Given the description of an element on the screen output the (x, y) to click on. 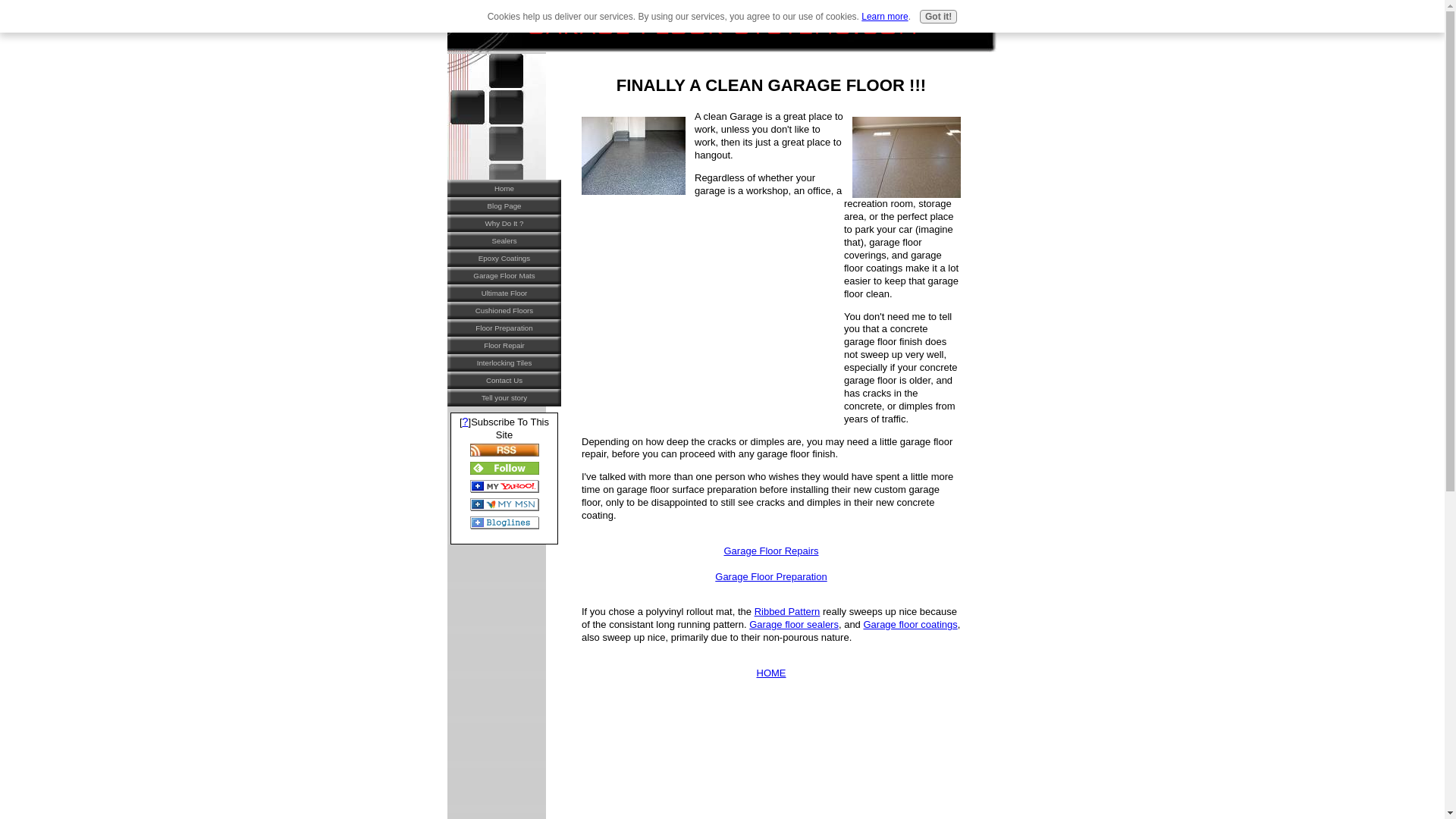
Garage floor coatings (909, 624)
Garage Floor Preparation (770, 576)
Why Do It ? (503, 222)
Learn more (884, 16)
Garage Floor Mats (503, 275)
HOME (771, 672)
Advertisement (707, 304)
Got it! (938, 16)
Repairing Your Garage Floor (770, 550)
Contact Us (503, 380)
Go To Home Page (771, 672)
Garage Floor Repairs (770, 550)
Sealers (503, 240)
Blog Page (503, 205)
Cushioned Floors (503, 310)
